Given the description of an element on the screen output the (x, y) to click on. 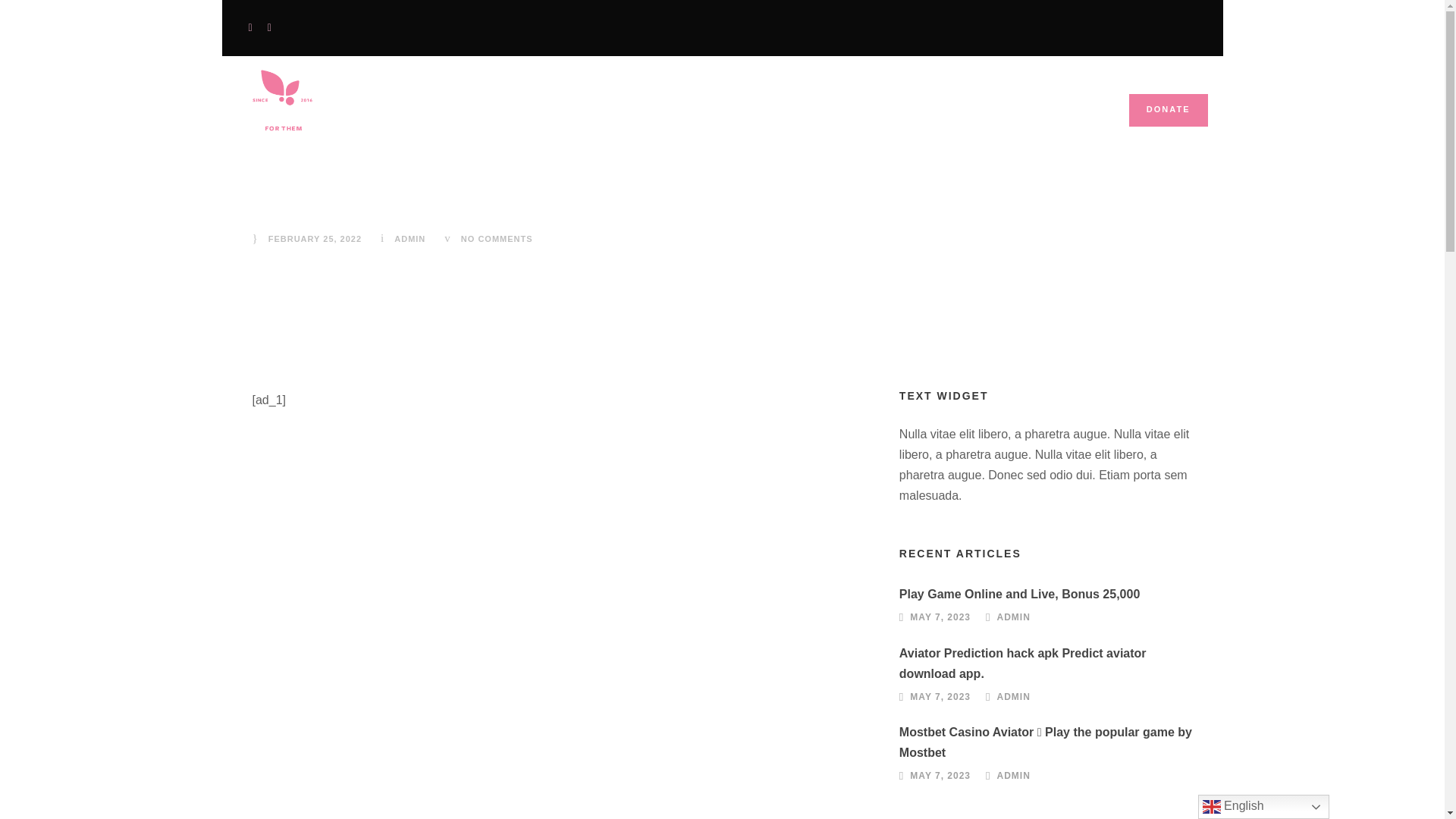
NO COMMENTS (496, 238)
ADMIN (1013, 616)
Aviator Prediction hack apk Predict aviator download app. (1023, 662)
Posts by admin (409, 238)
ADMIN (1013, 696)
ABOUT US (665, 118)
Play Game Online and Live, Bonus 25,000 (1019, 594)
Posts by admin (1013, 616)
ADMIN (409, 238)
asad2 (283, 101)
HOME (577, 118)
DONATE (1168, 110)
MAY 7, 2023 (940, 696)
FEBRUARY 25, 2022 (314, 238)
